Given the description of an element on the screen output the (x, y) to click on. 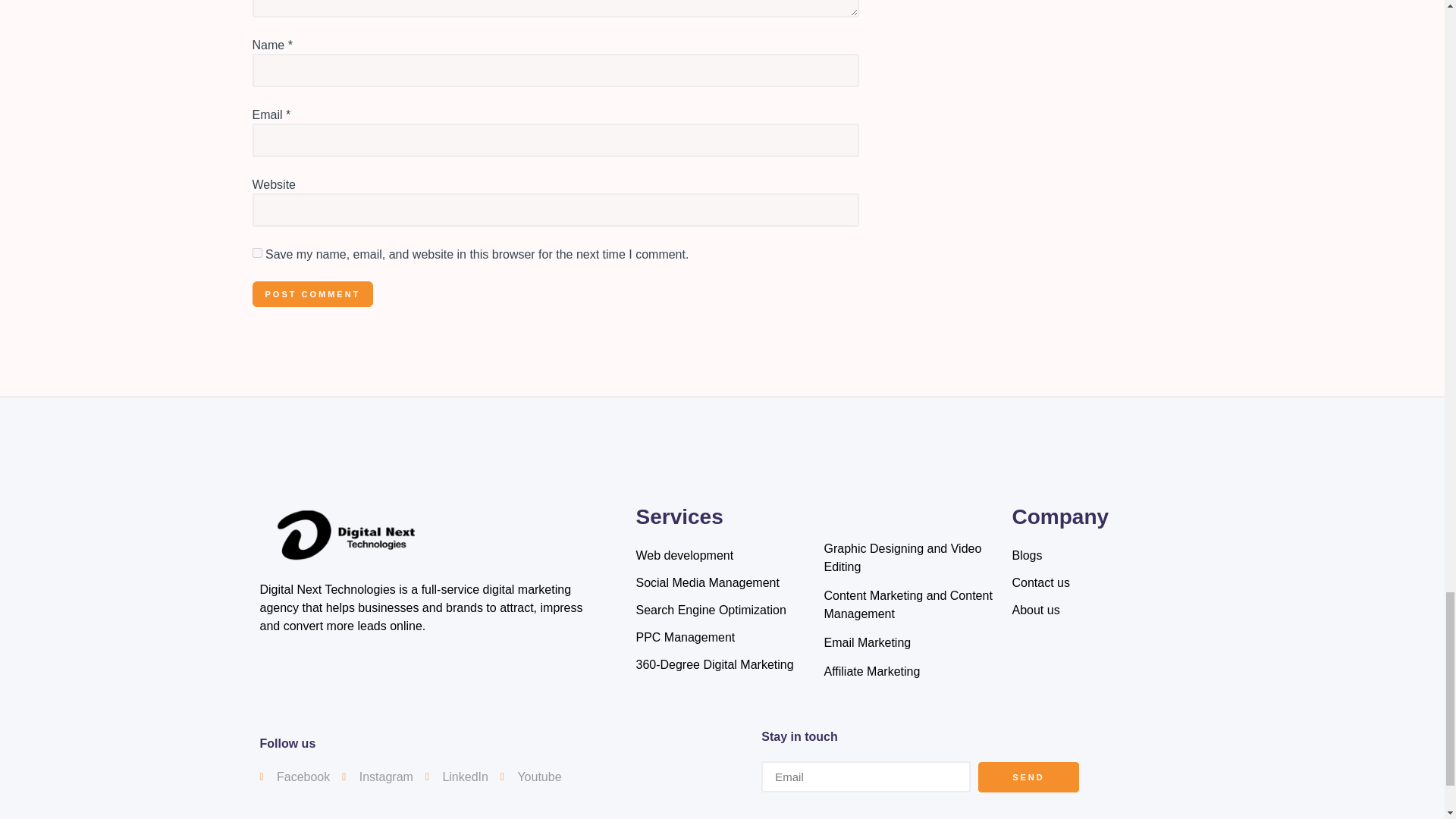
SEND (919, 776)
Post Comment (311, 294)
Services (409, 777)
Company (721, 516)
Follow us (1098, 583)
